Given the description of an element on the screen output the (x, y) to click on. 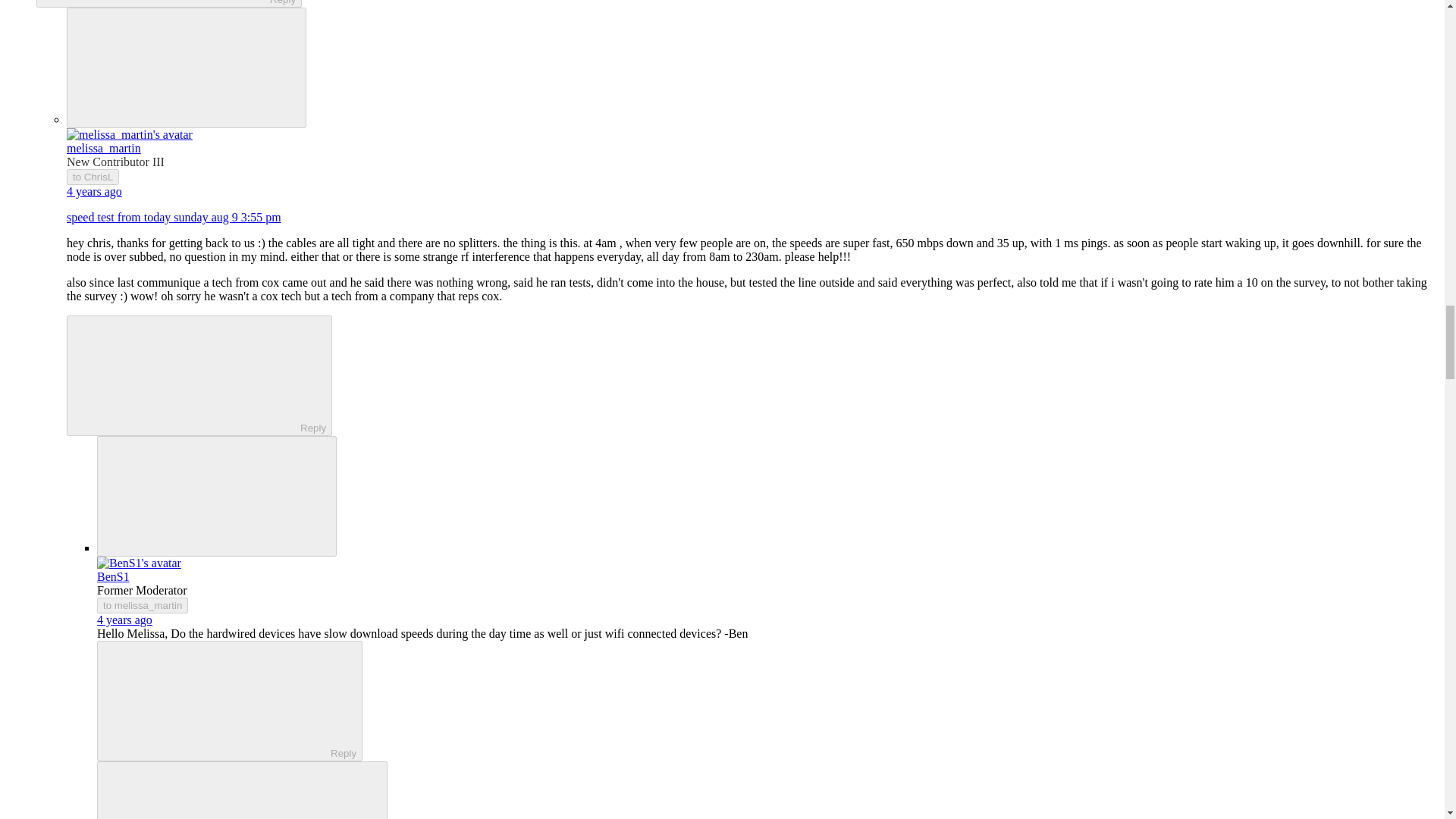
Reply (216, 699)
Reply (185, 374)
August 9, 2020 at 10:54 PM (94, 191)
Reply (155, 1)
August 10, 2020 at 7:49 AM (124, 619)
